Given the description of an element on the screen output the (x, y) to click on. 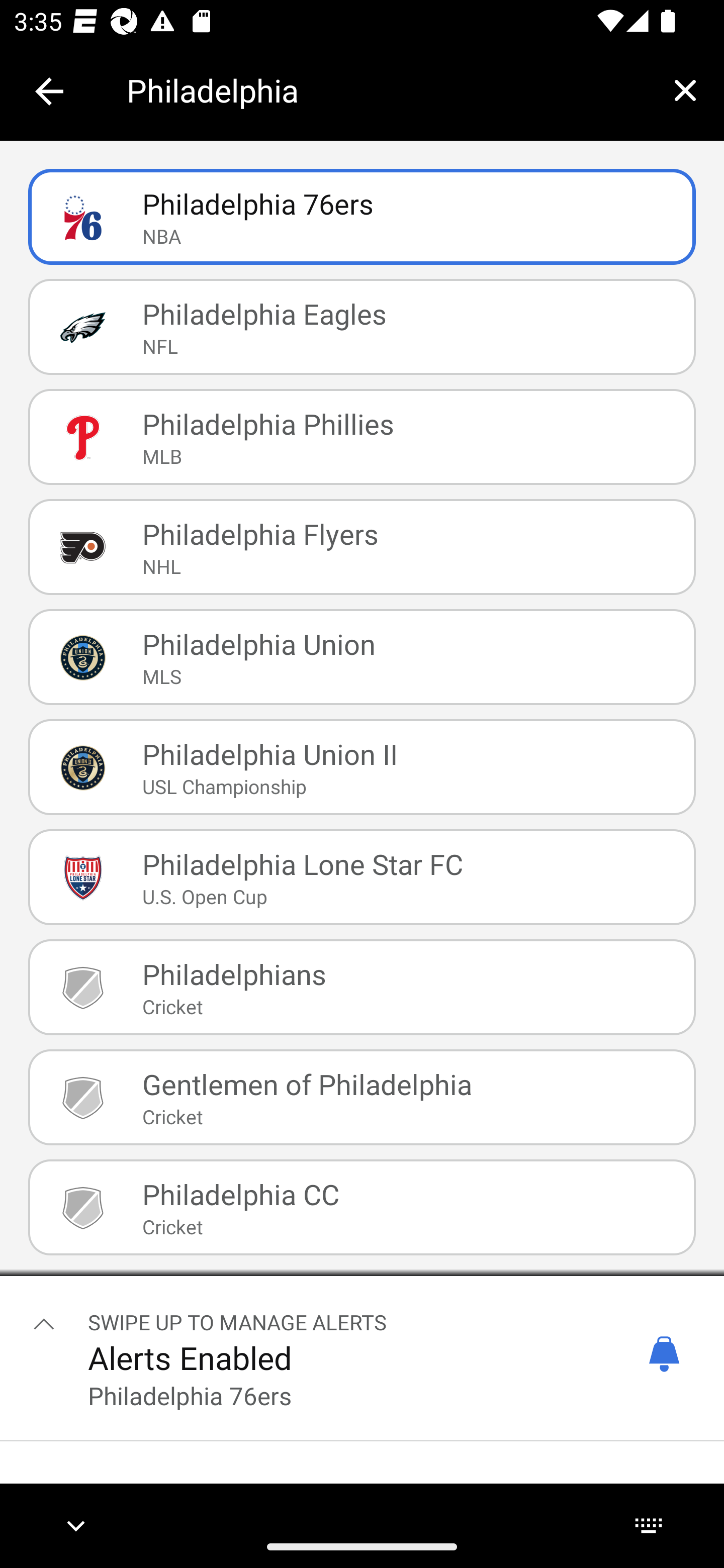
Collapse (49, 91)
Clear query (685, 89)
Philadelphia (386, 90)
Philadelphia 76ers Philadelphia 76ersSelected NBA (361, 216)
Philadelphia Eagles NFL (361, 326)
Philadelphia Phillies MLB (361, 436)
Philadelphia Flyers NHL (361, 546)
Philadelphia Union MLS (361, 656)
Philadelphia Union II USL Championship (361, 767)
Philadelphia Lone Star FC U.S. Open Cup (361, 877)
Philadelphians Cricket (361, 986)
Gentlemen of Philadelphia Cricket (361, 1096)
Philadelphia CC Cricket (361, 1206)
 (44, 1323)
